Given the description of an element on the screen output the (x, y) to click on. 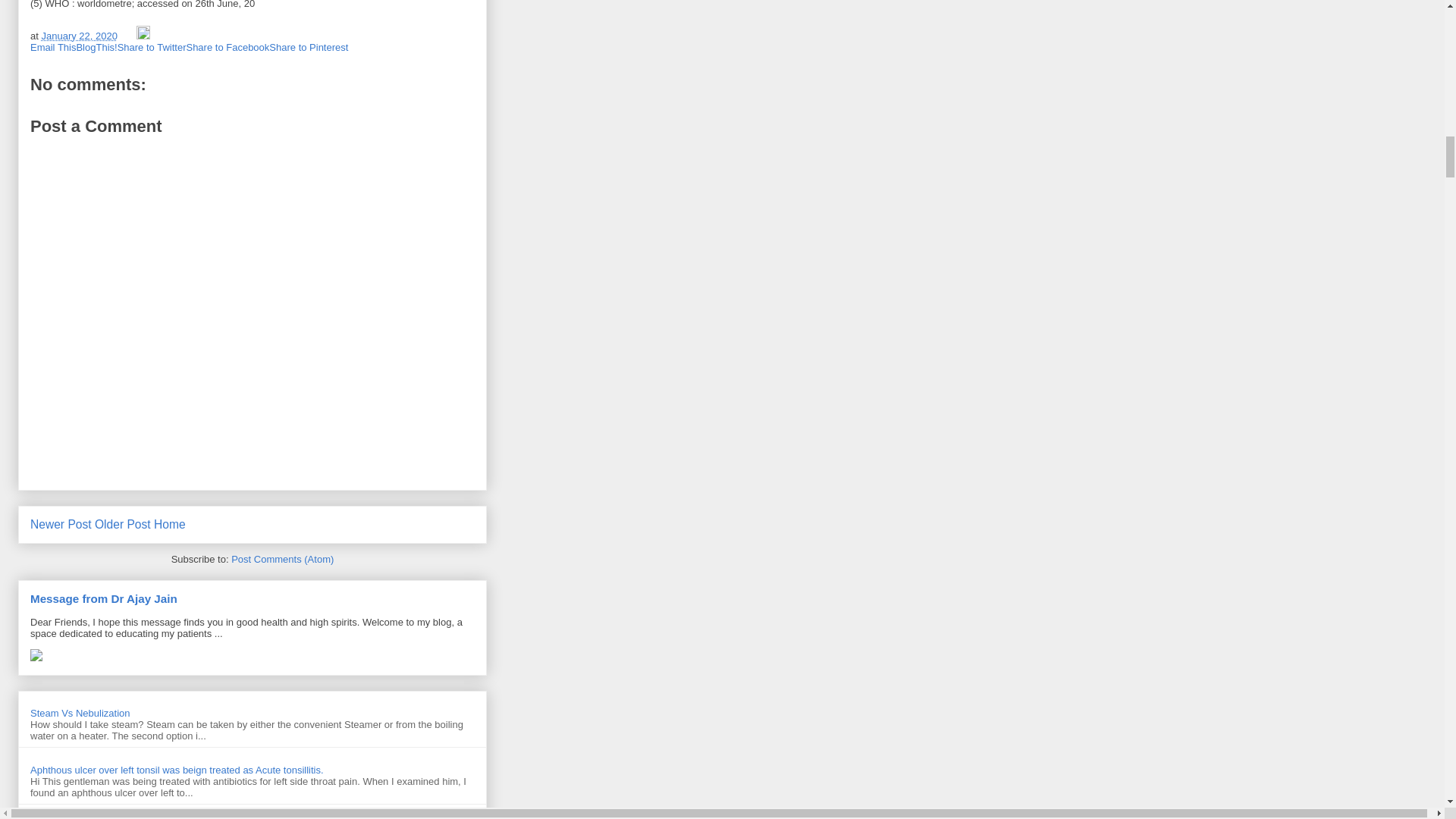
permanent link (78, 35)
Email This (52, 47)
Newer Post (60, 523)
Share to Twitter (151, 47)
Share to Pinterest (308, 47)
Steam Vs Nebulization (80, 713)
Older Post (122, 523)
BlogThis! (95, 47)
Share to Pinterest (308, 47)
Message from Dr Ajay Jain (103, 598)
Email Post (128, 35)
Share to Facebook (227, 47)
Newer Post (60, 523)
BlogThis! (95, 47)
Home (170, 523)
